Given the description of an element on the screen output the (x, y) to click on. 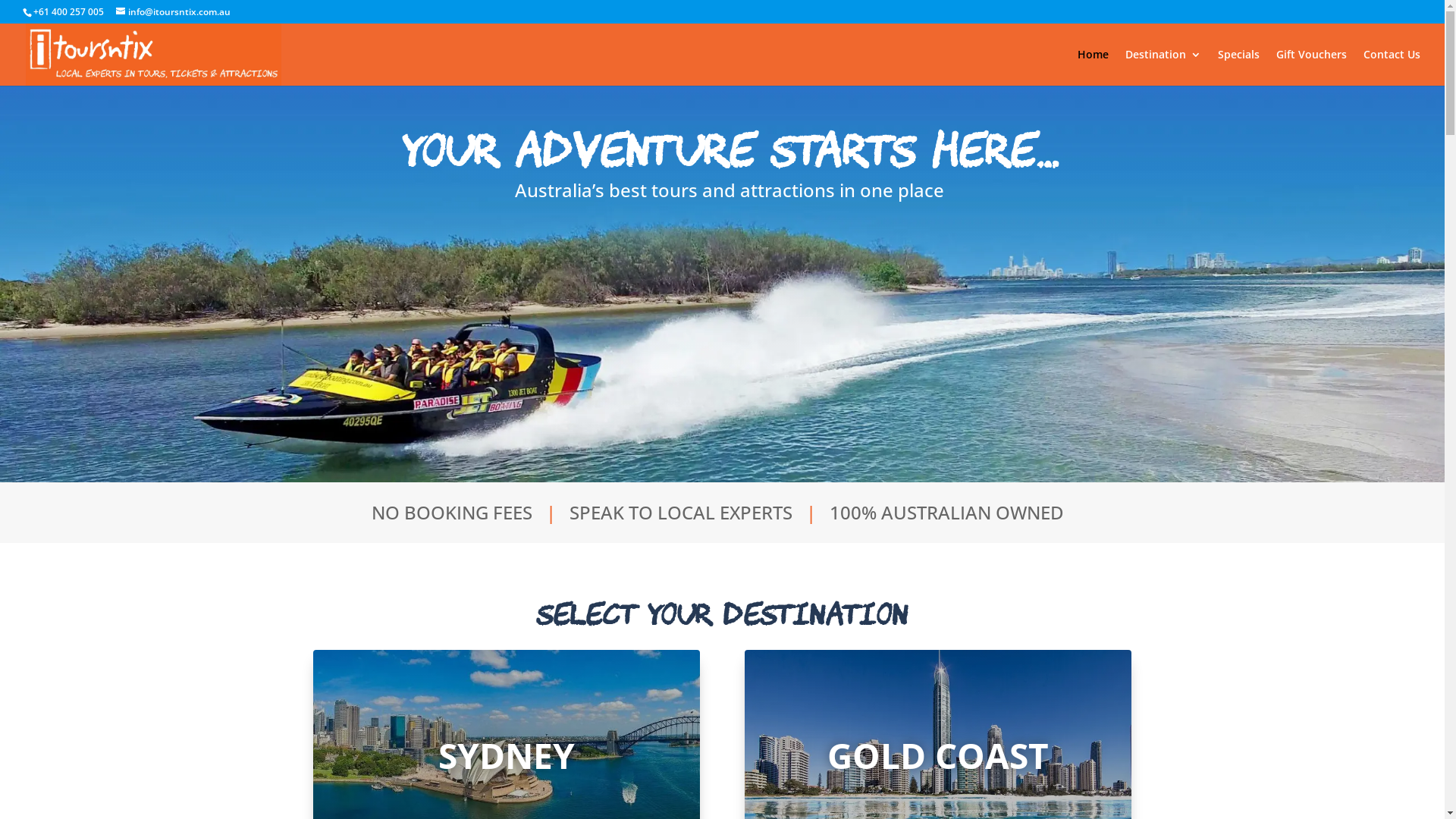
info@itoursntix.com.au Element type: text (173, 11)
Specials Element type: text (1238, 67)
Destination Element type: text (1163, 67)
Home Element type: text (1092, 67)
Gift Vouchers Element type: text (1311, 67)
Contact Us Element type: text (1391, 67)
